Given the description of an element on the screen output the (x, y) to click on. 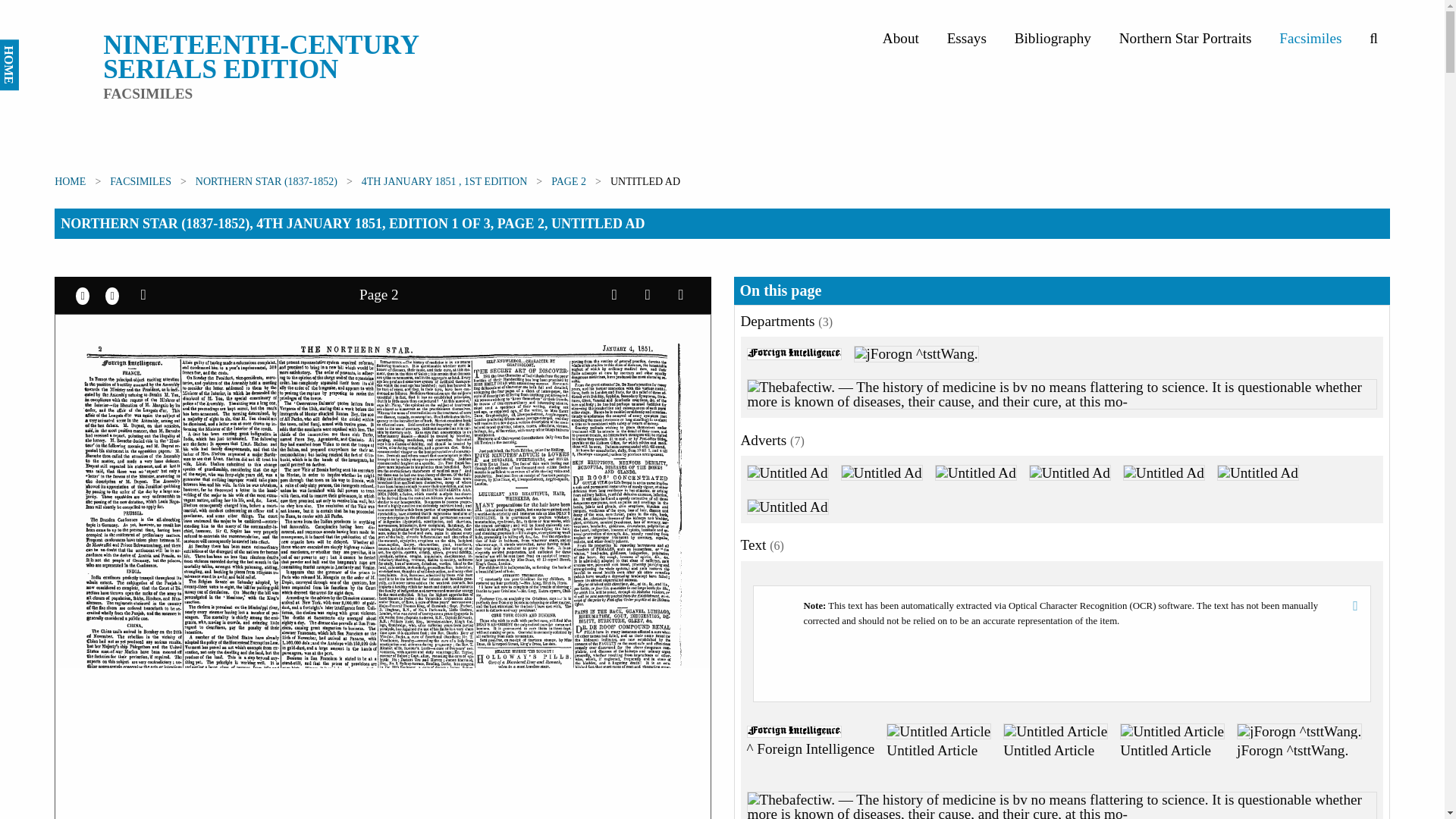
Zoom out (112, 294)
4TH JANUARY 1851 , 1ST EDITION (444, 181)
About (900, 37)
Facsimiles (1310, 37)
Save image (613, 294)
PAGE 2 (568, 181)
Search (1373, 37)
Untitled Article (1171, 748)
HOME (24, 49)
NINETEENTH-CENTURY SERIALS EDITION (261, 57)
